Given the description of an element on the screen output the (x, y) to click on. 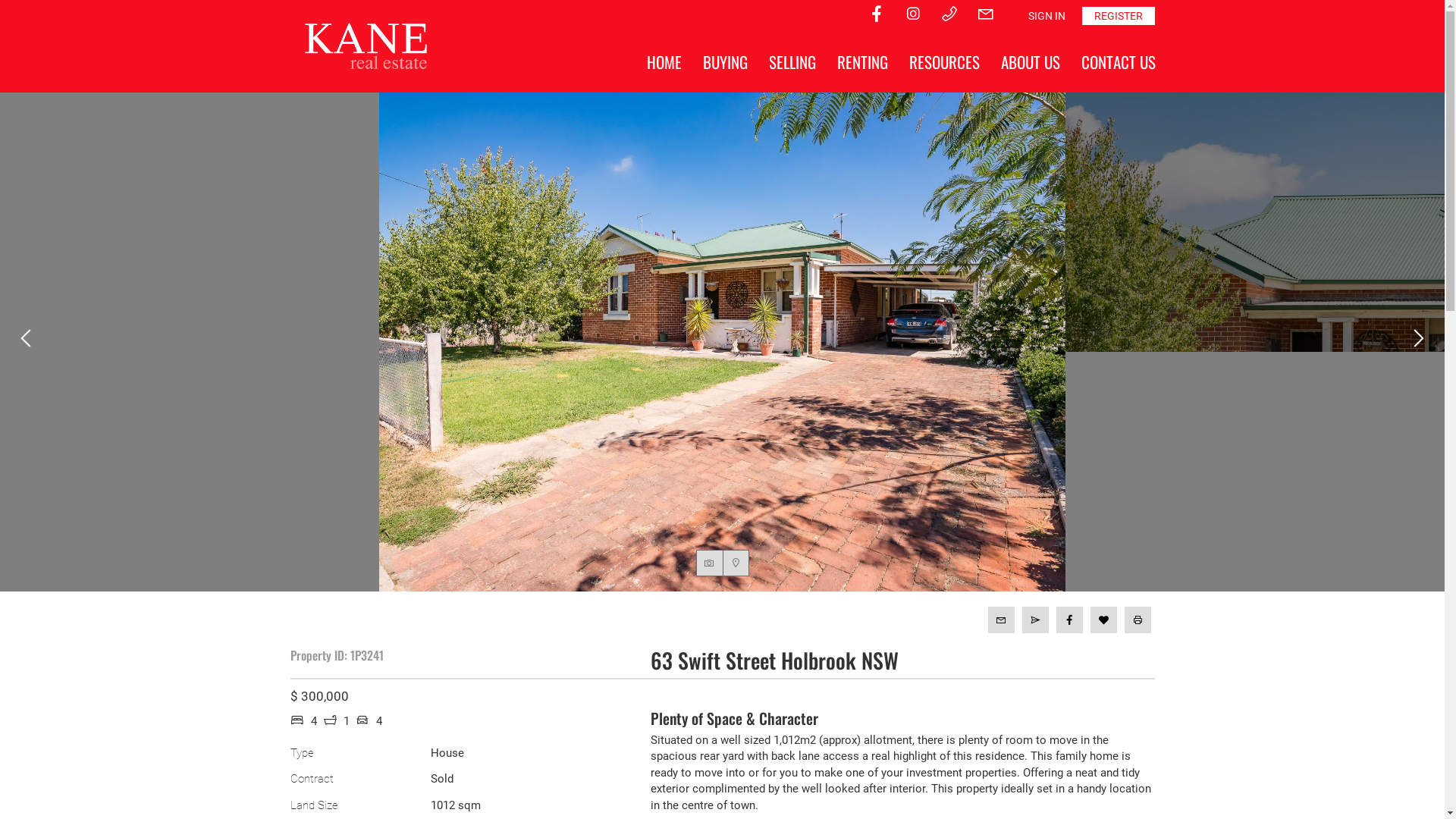
Email to Agent Element type: hover (1000, 619)
RESOURCES Element type: text (943, 61)
CONTACT US Element type: text (1118, 61)
REGISTER Element type: text (1117, 15)
SELLING Element type: text (792, 61)
RENTING Element type: text (862, 61)
Email to Friend Element type: hover (1035, 619)
HOME Element type: text (663, 61)
ABOUT US Element type: text (1030, 61)
BUYING Element type: text (724, 61)
SIGN IN Element type: text (1046, 15)
